Given the description of an element on the screen output the (x, y) to click on. 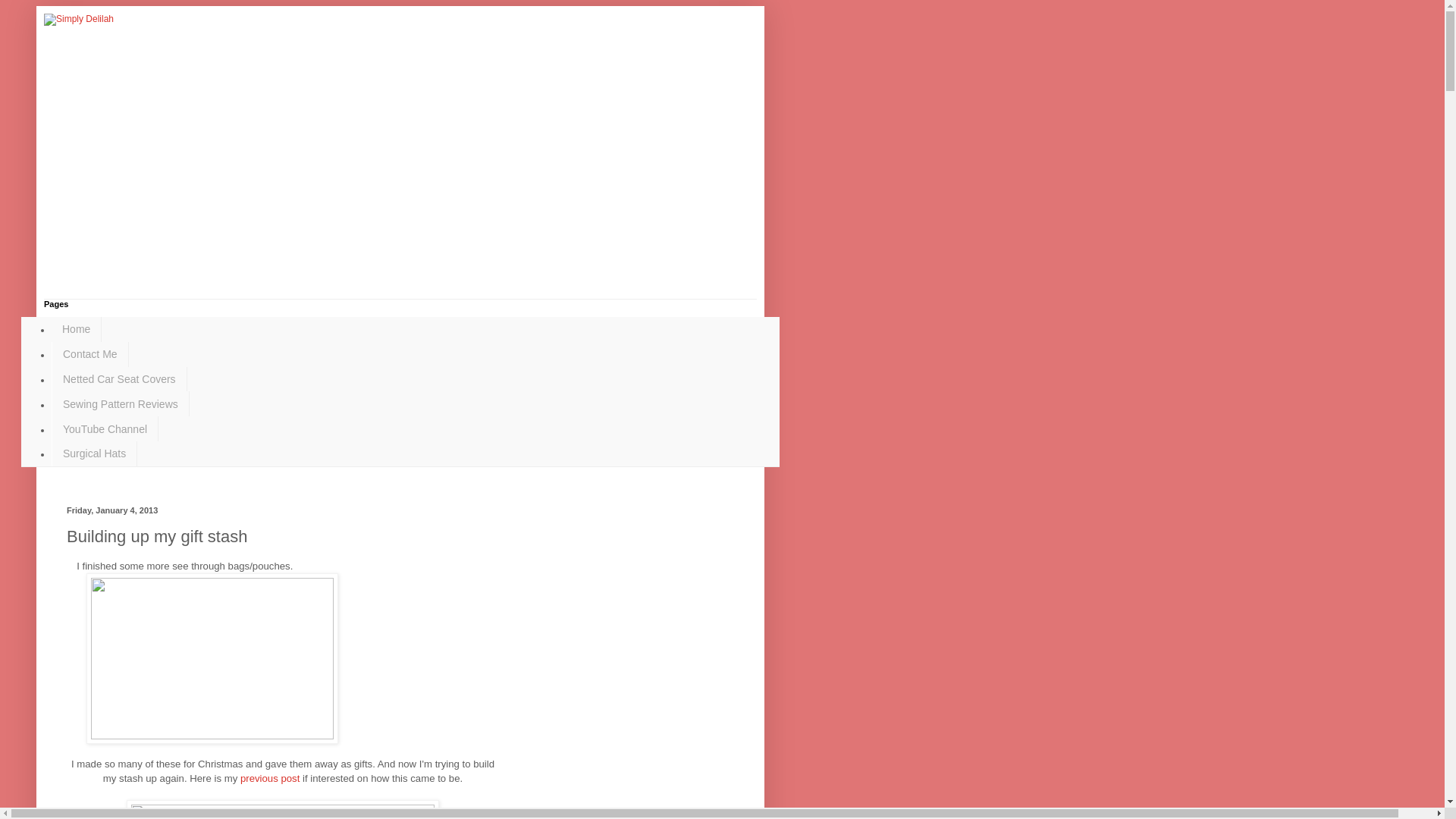
Netted Car Seat Covers (118, 379)
Surgical Hats (93, 453)
YouTube Channel (104, 428)
Sewing Pattern Reviews (119, 403)
previous post (269, 778)
Home (75, 329)
Contact Me (89, 354)
